Given the description of an element on the screen output the (x, y) to click on. 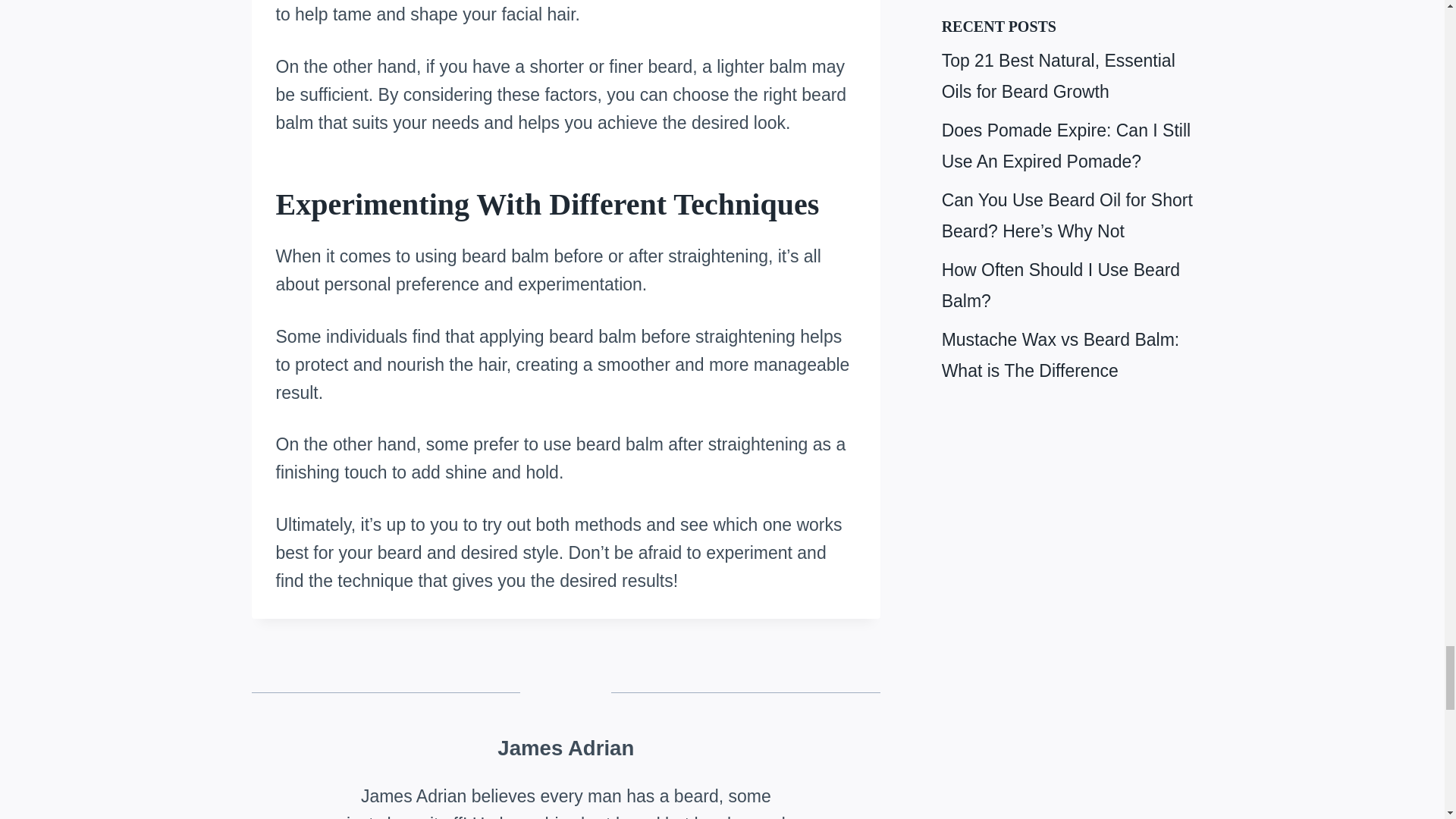
Posts by James Adrian (565, 748)
